Given the description of an element on the screen output the (x, y) to click on. 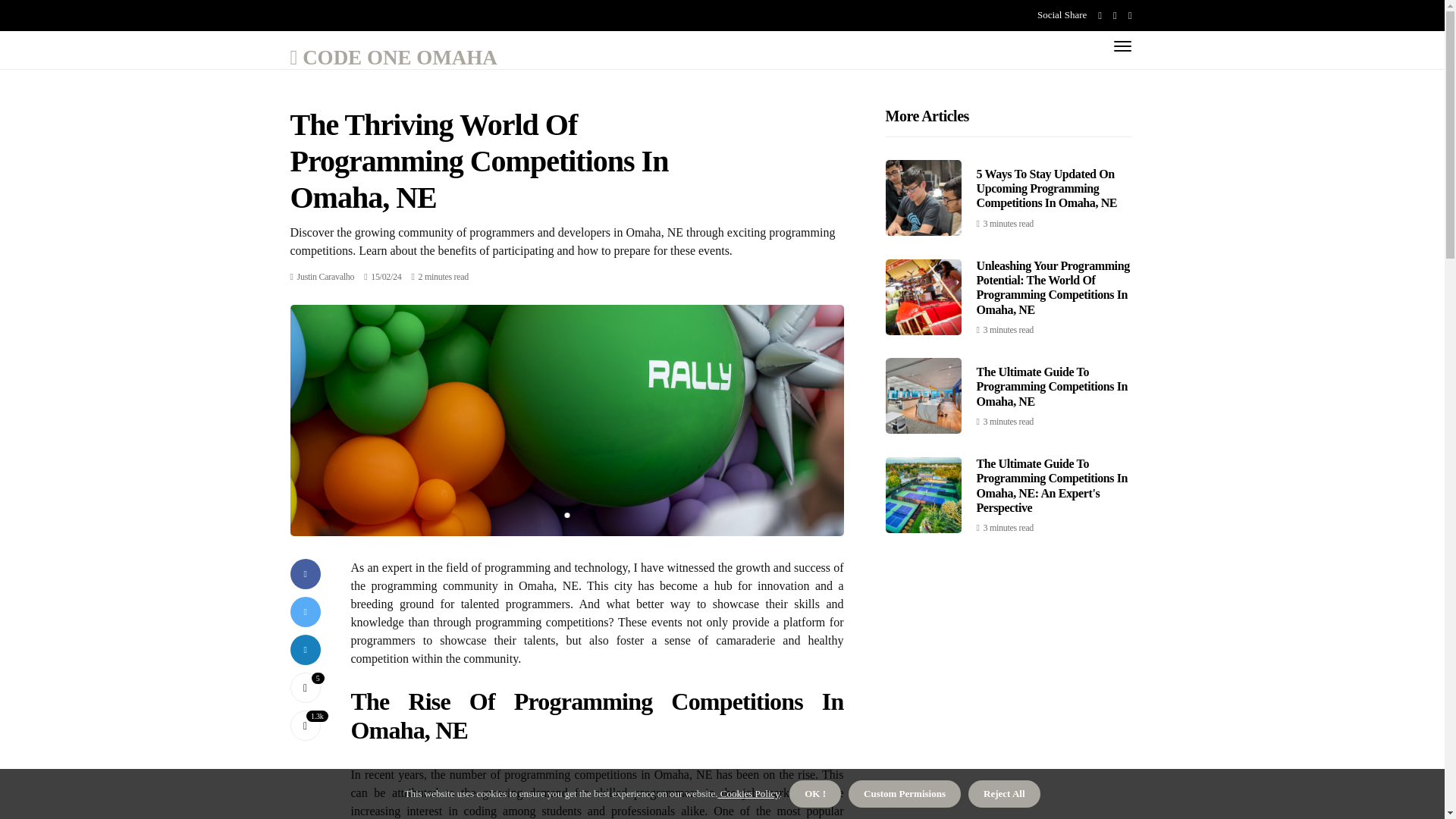
The Ultimate Guide To Programming Competitions In Omaha, NE (1052, 386)
Like (304, 687)
Posts by Justin Caravalho (326, 276)
Justin Caravalho (326, 276)
CODE ONE OMAHA (392, 56)
5 (304, 687)
